Given the description of an element on the screen output the (x, y) to click on. 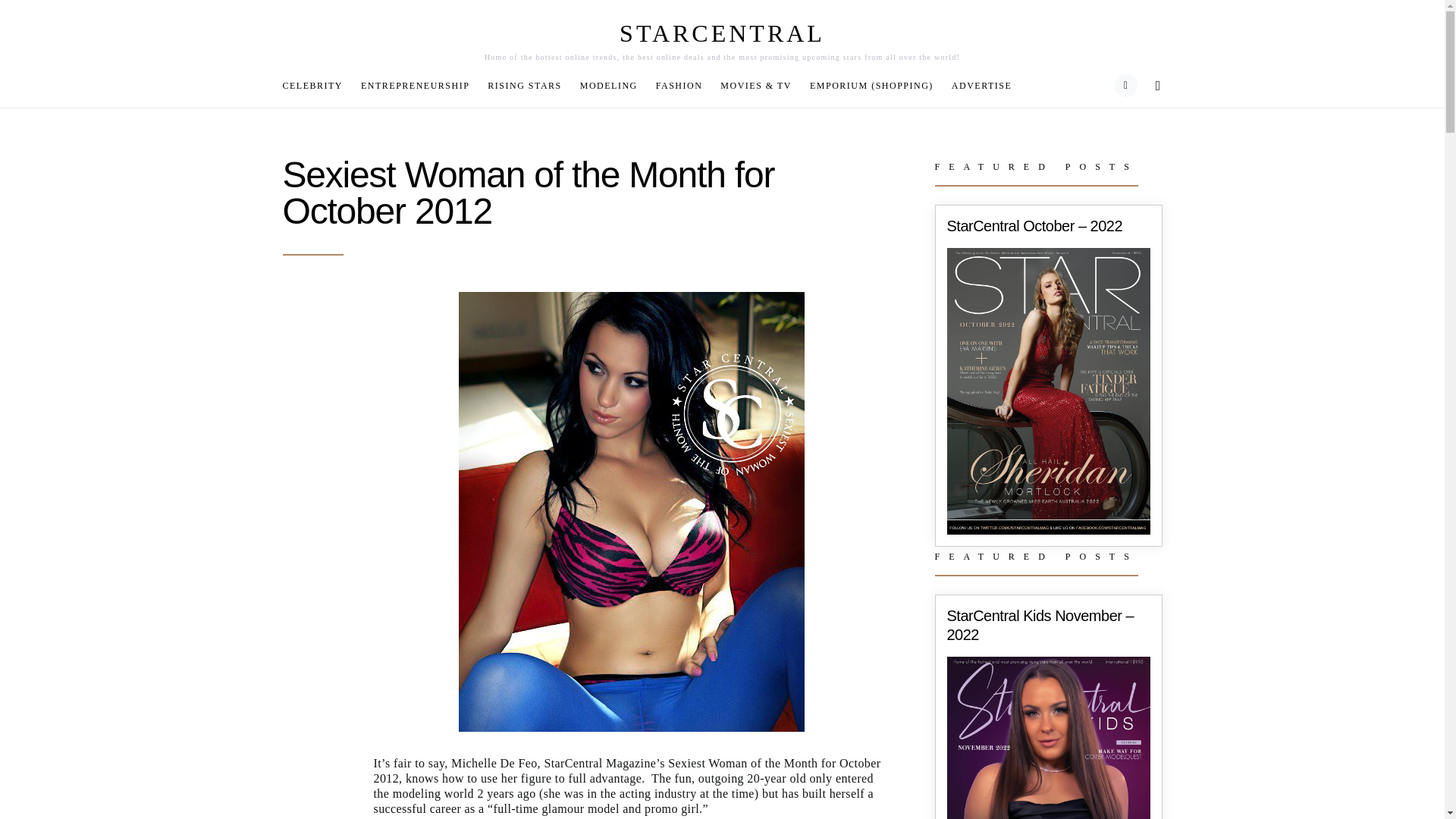
MODELING (608, 84)
View your shopping cart (1126, 85)
CELEBRITY (317, 84)
STARCENTRAL (721, 33)
FASHION (678, 84)
ENTREPRENEURSHIP (415, 84)
ADVERTISE (976, 84)
RISING STARS (524, 84)
